Given the description of an element on the screen output the (x, y) to click on. 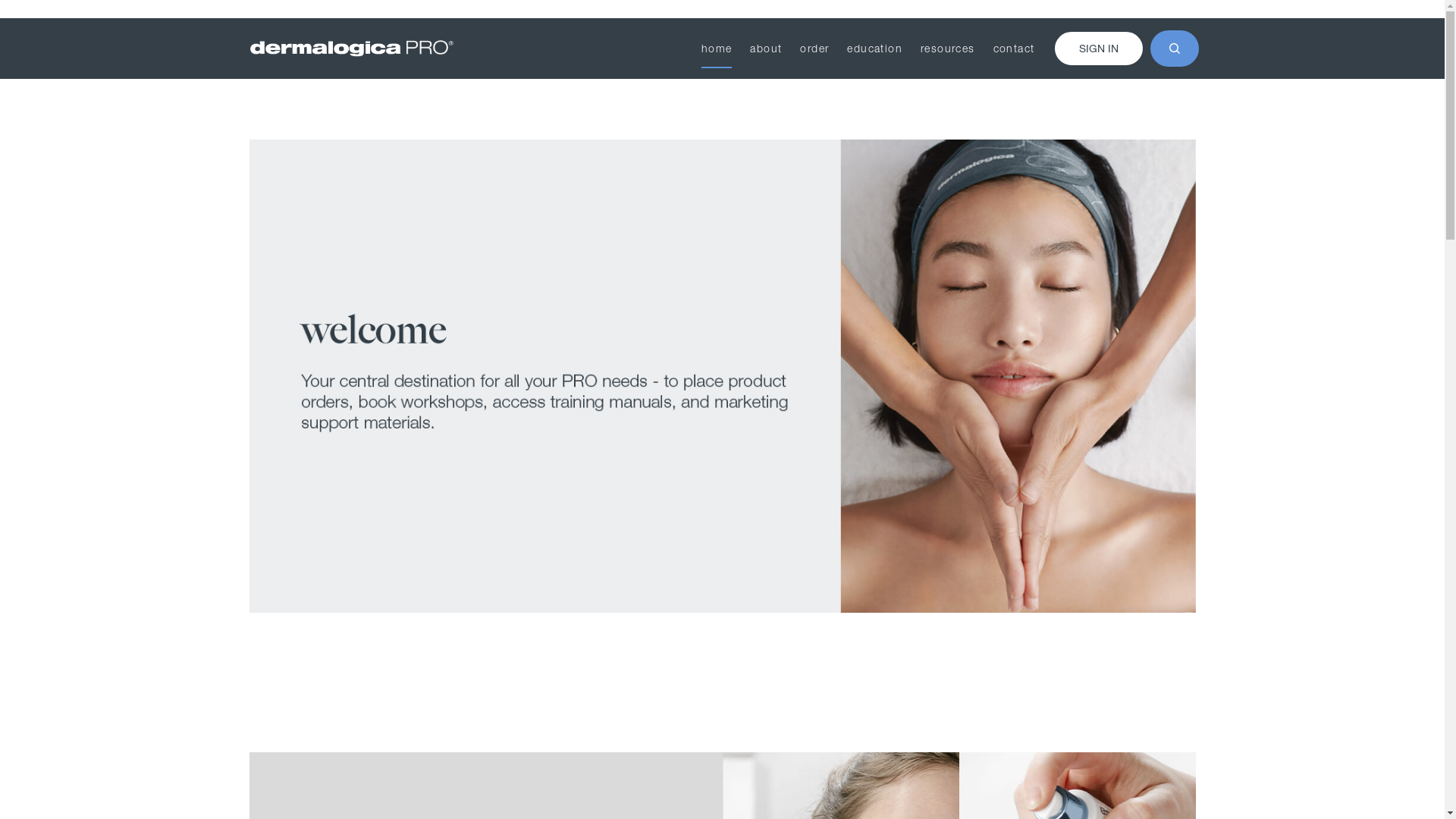
resources Element type: text (947, 48)
home Element type: text (716, 48)
order Element type: text (814, 48)
contact Element type: text (1014, 48)
about Element type: text (765, 48)
education Element type: text (874, 48)
SIGN IN Element type: text (1097, 48)
